Given the description of an element on the screen output the (x, y) to click on. 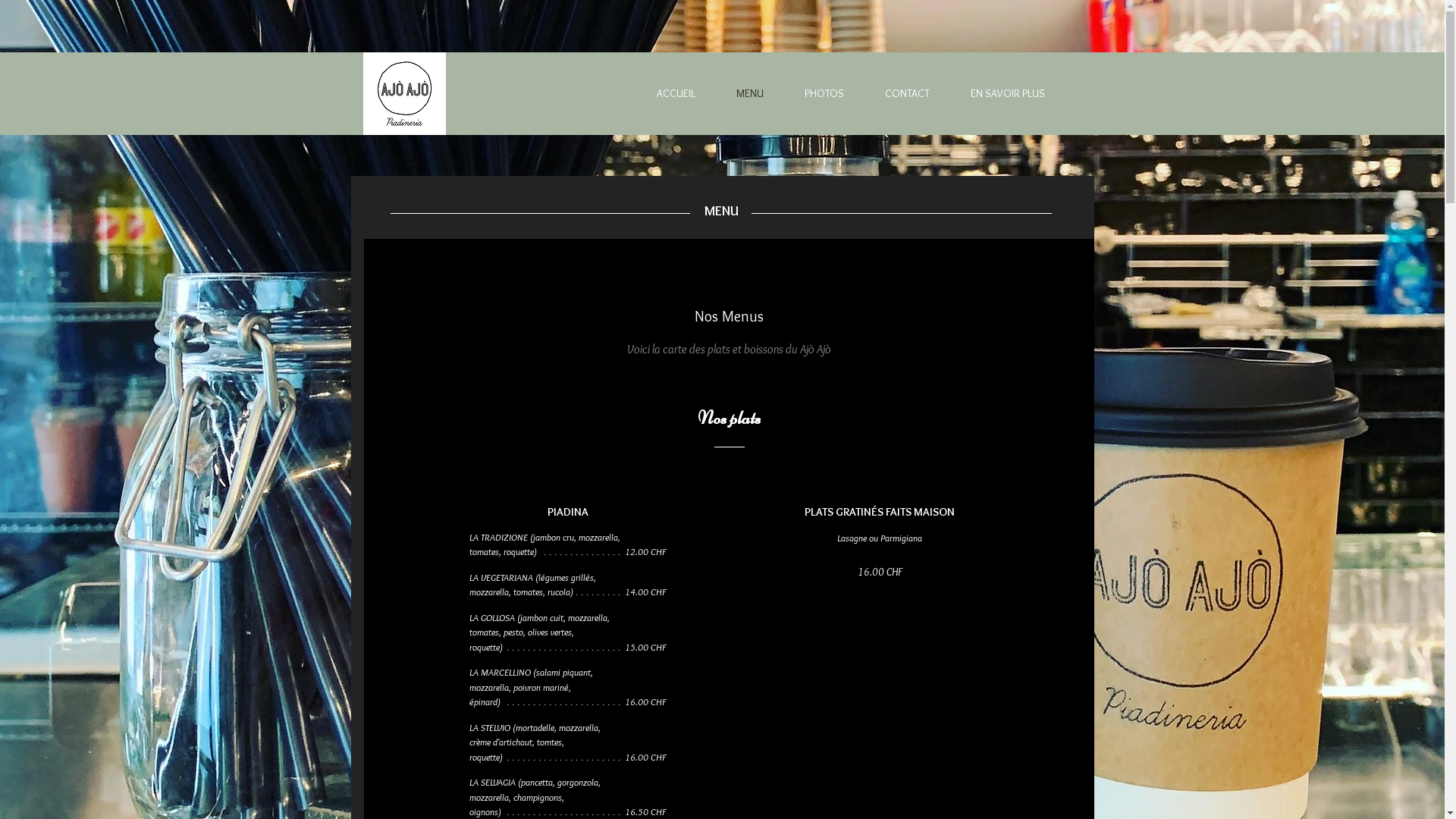
ACCUEIL Element type: text (662, 93)
CONTACT Element type: text (895, 93)
EN SAVOIR PLUS Element type: text (994, 93)
PHOTOS Element type: text (811, 93)
MENU Element type: text (737, 93)
